Given the description of an element on the screen output the (x, y) to click on. 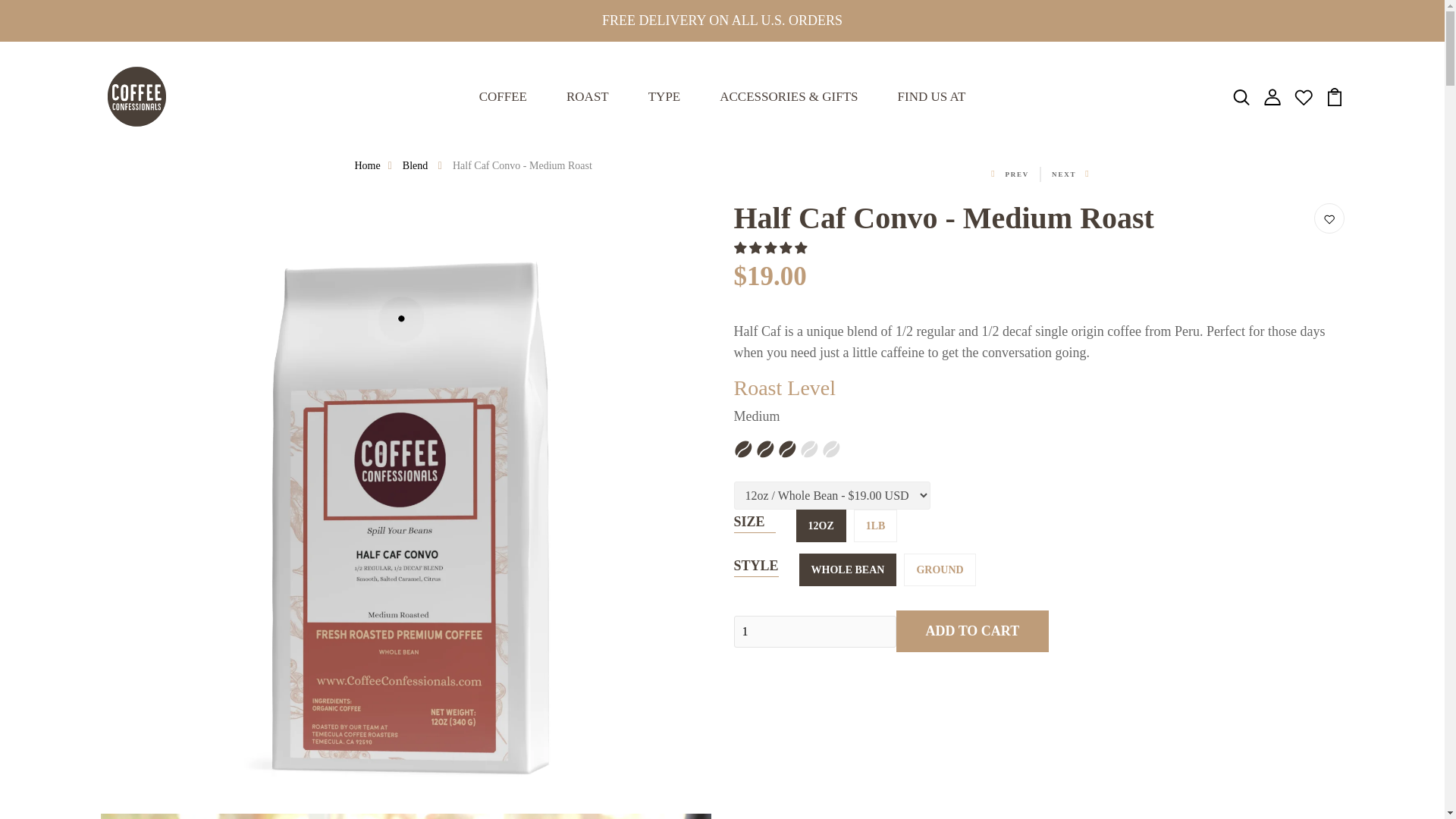
TYPE (664, 97)
TYPE (664, 97)
FIND US AT (931, 97)
COFFEE (502, 97)
ROAST (587, 97)
ROAST (587, 97)
COFFEE (502, 97)
1 (814, 631)
